Given the description of an element on the screen output the (x, y) to click on. 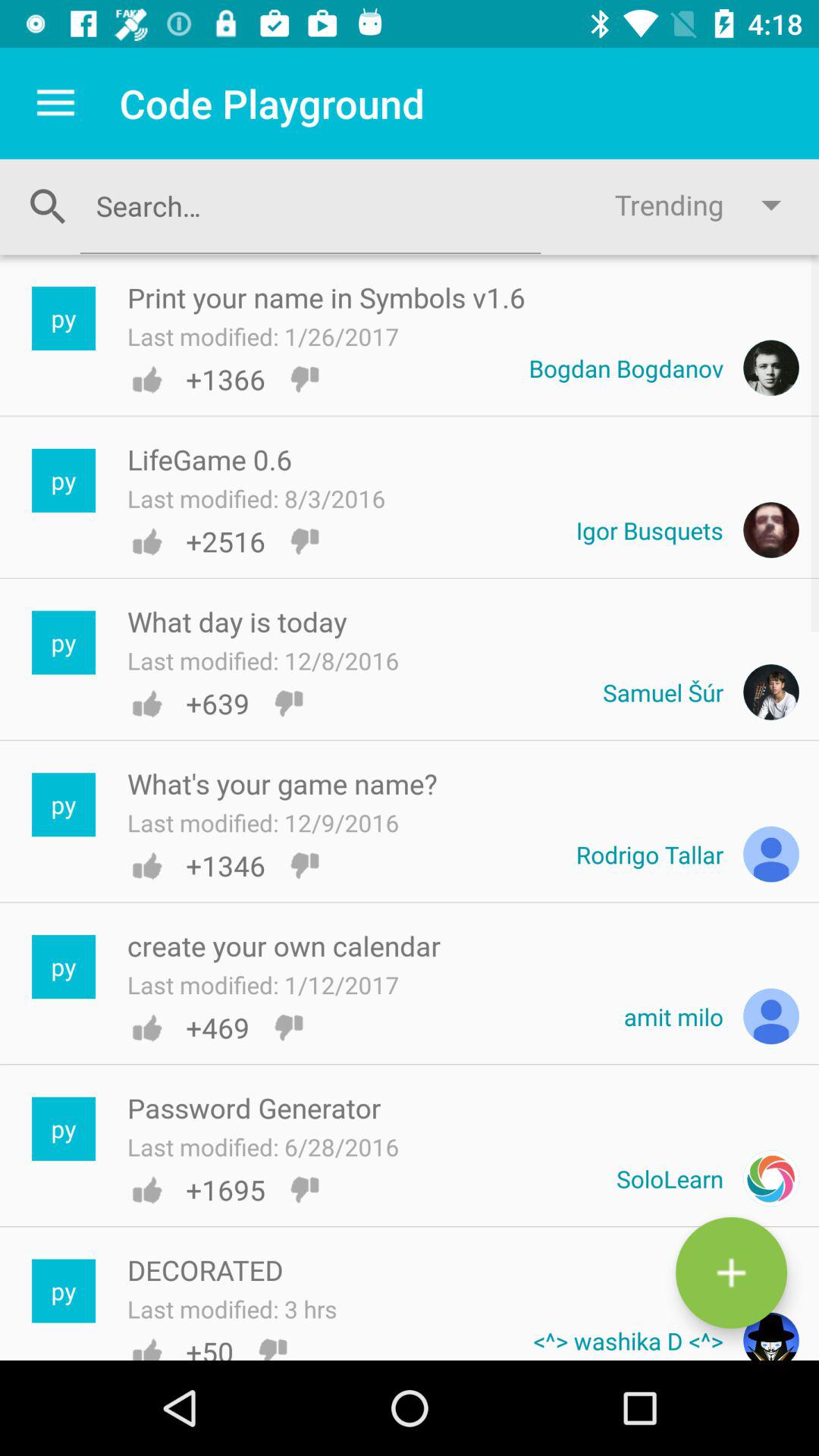
search pega (310, 205)
